Given the description of an element on the screen output the (x, y) to click on. 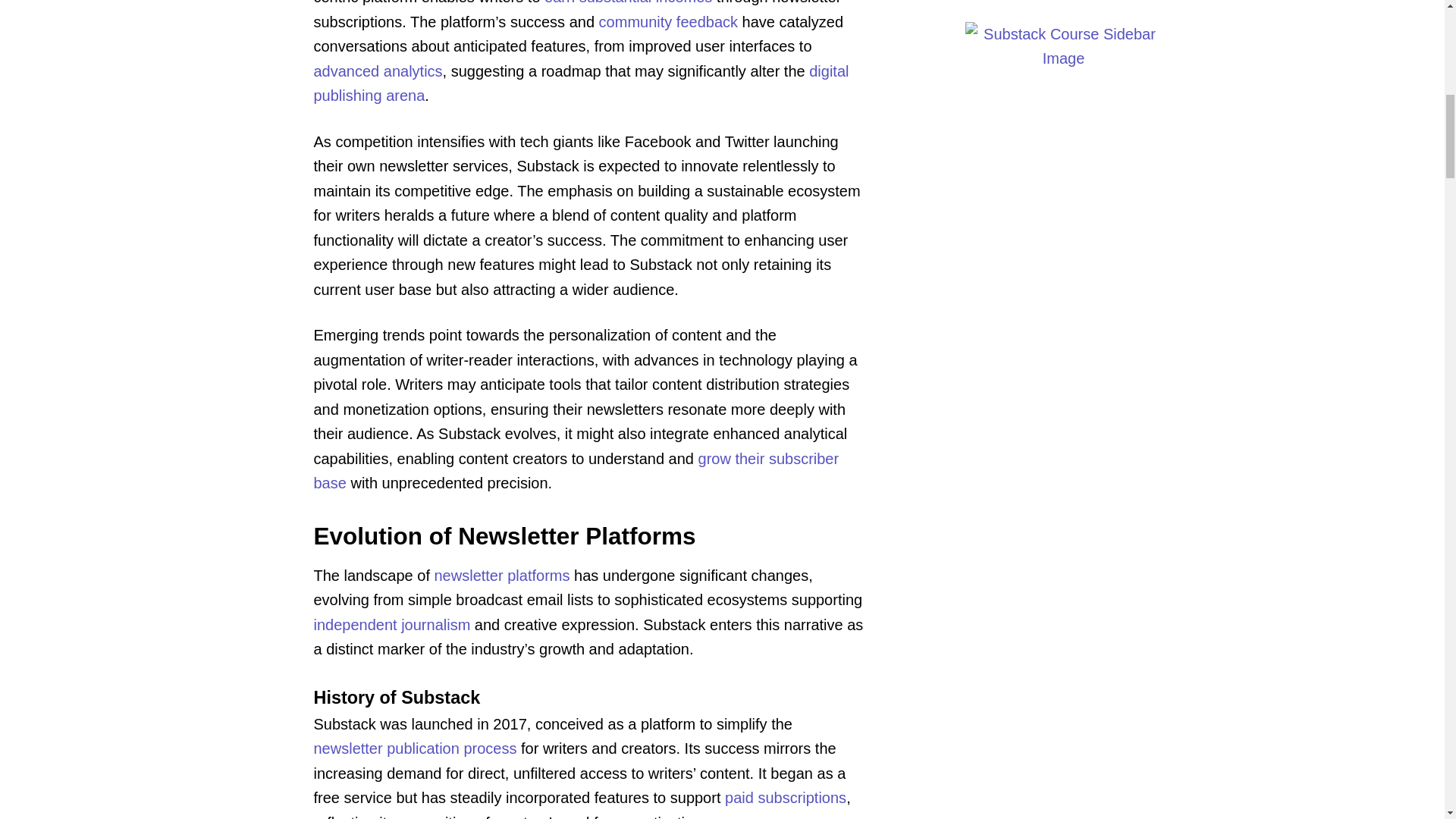
digital publishing arena (581, 83)
community feedback (668, 21)
paid subscriptions (785, 797)
earn substantial incomes (627, 2)
newsletter platforms (501, 575)
grow their subscriber base (577, 471)
newsletter publication process (415, 748)
independent journalism (392, 624)
advanced analytics (378, 70)
